Given the description of an element on the screen output the (x, y) to click on. 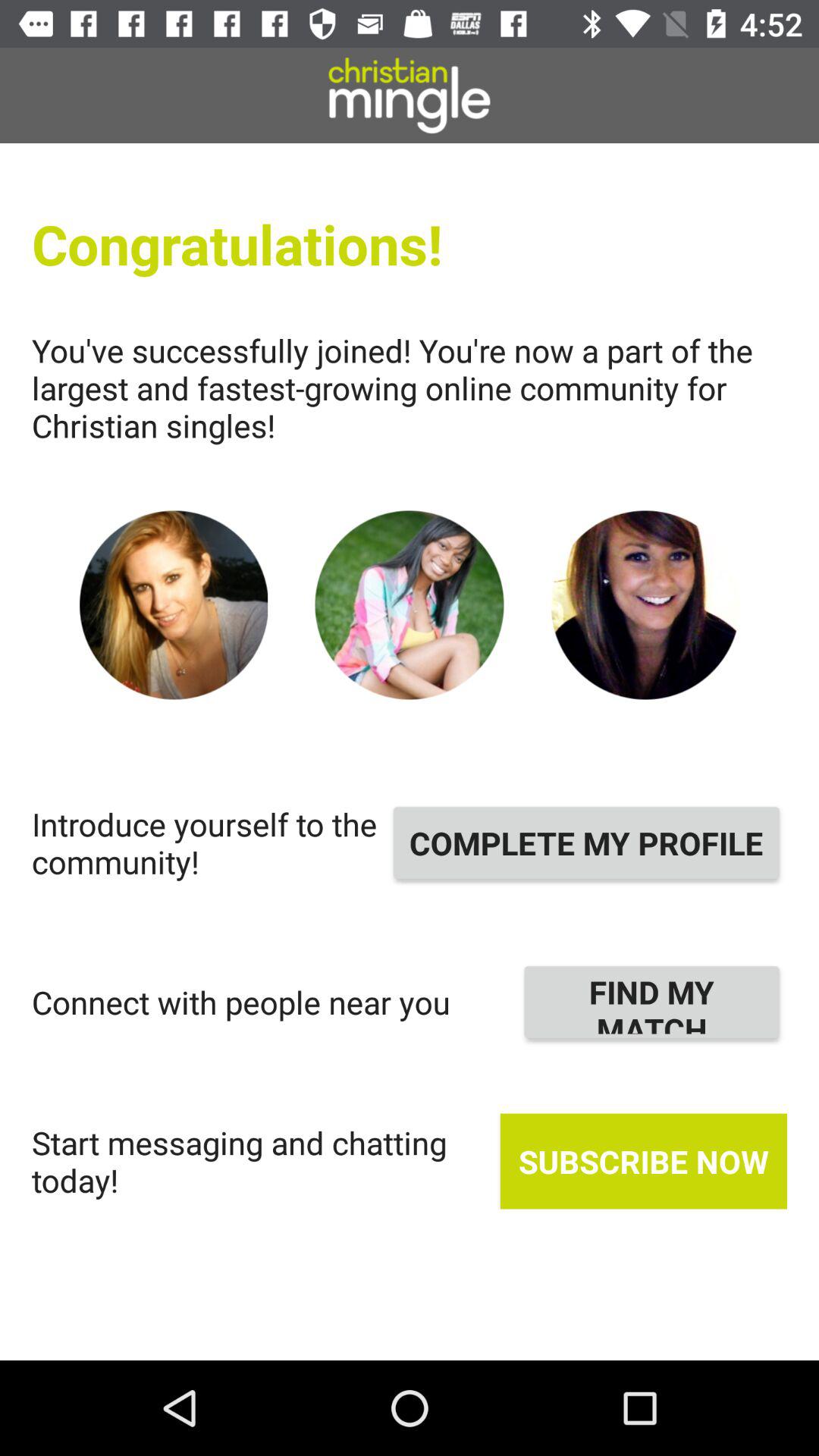
click the icon above subscribe now (651, 1001)
